Given the description of an element on the screen output the (x, y) to click on. 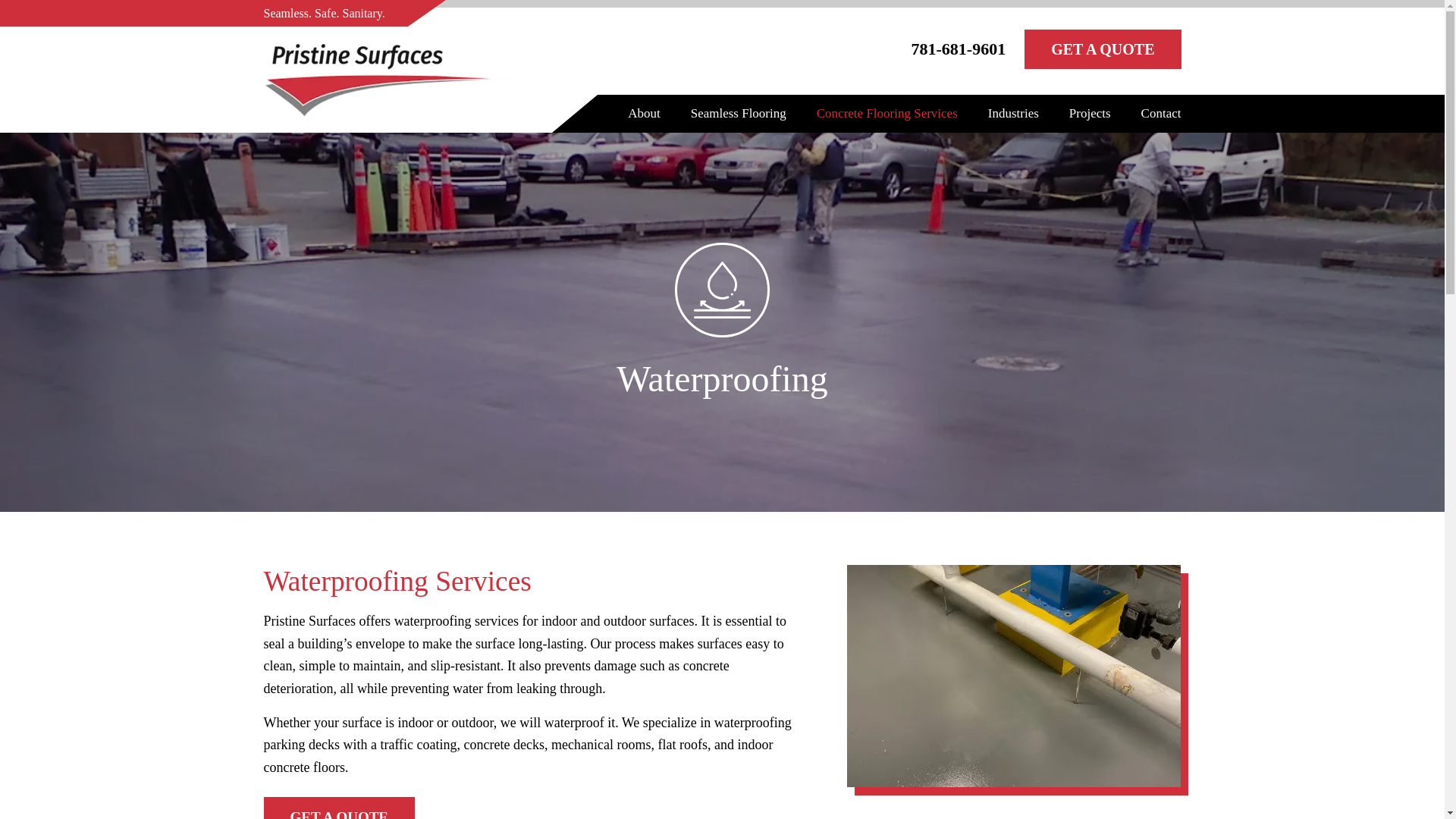
waterproof (722, 289)
GET A QUOTE (1102, 48)
Photo for Waterproofing Page (1013, 676)
GET A QUOTE (338, 807)
Projects (1089, 113)
Concrete Flooring Services (887, 113)
781-681-9601 (958, 51)
Contact (1160, 113)
Industries (1013, 113)
Seamless Flooring (738, 113)
